Given the description of an element on the screen output the (x, y) to click on. 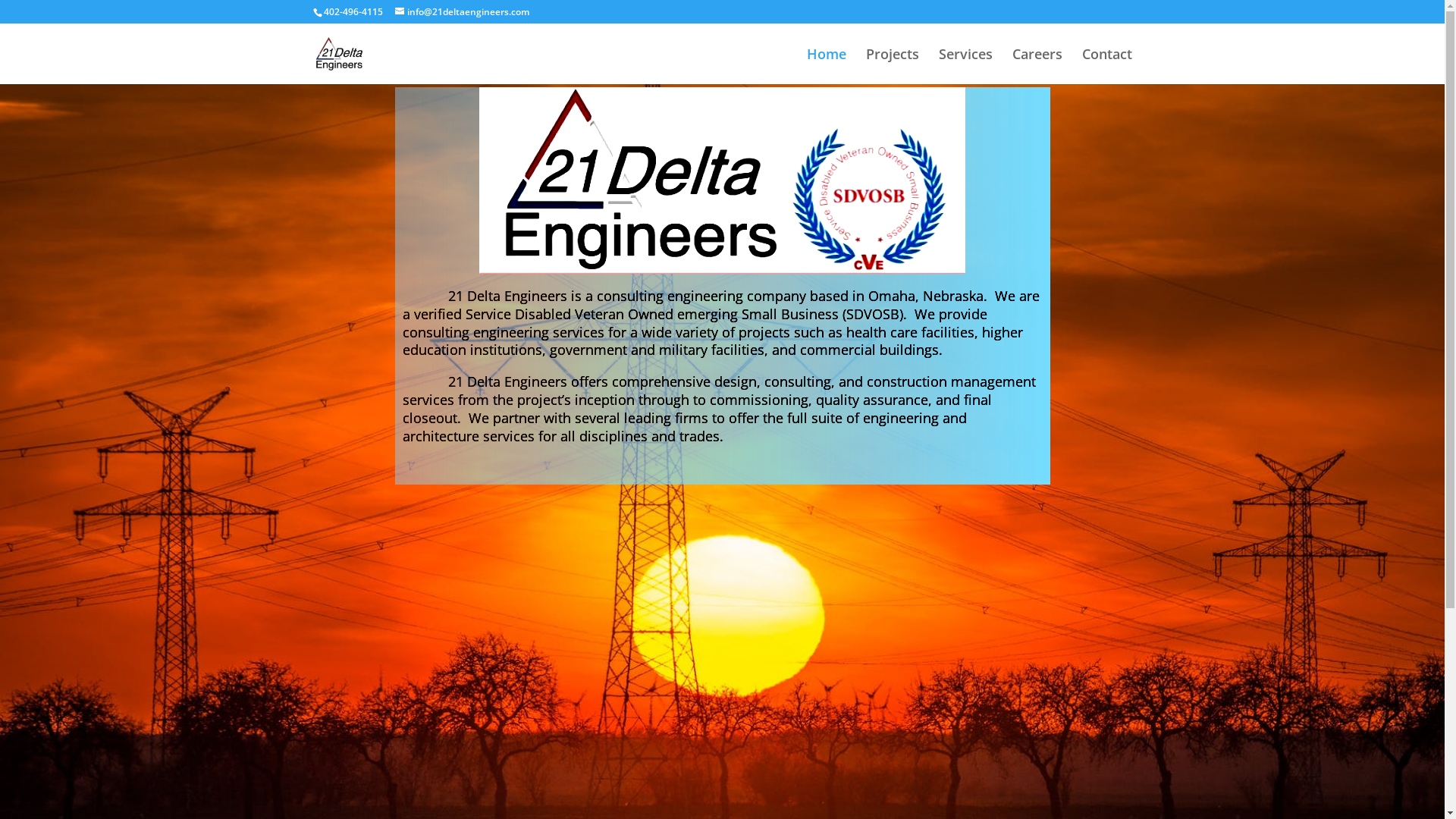
Careers Element type: text (1036, 66)
Contact Element type: text (1106, 66)
Services Element type: text (965, 66)
Home Element type: text (826, 66)
info@21deltaengineers.com Element type: text (461, 11)
Projects Element type: text (892, 66)
